Given the description of an element on the screen output the (x, y) to click on. 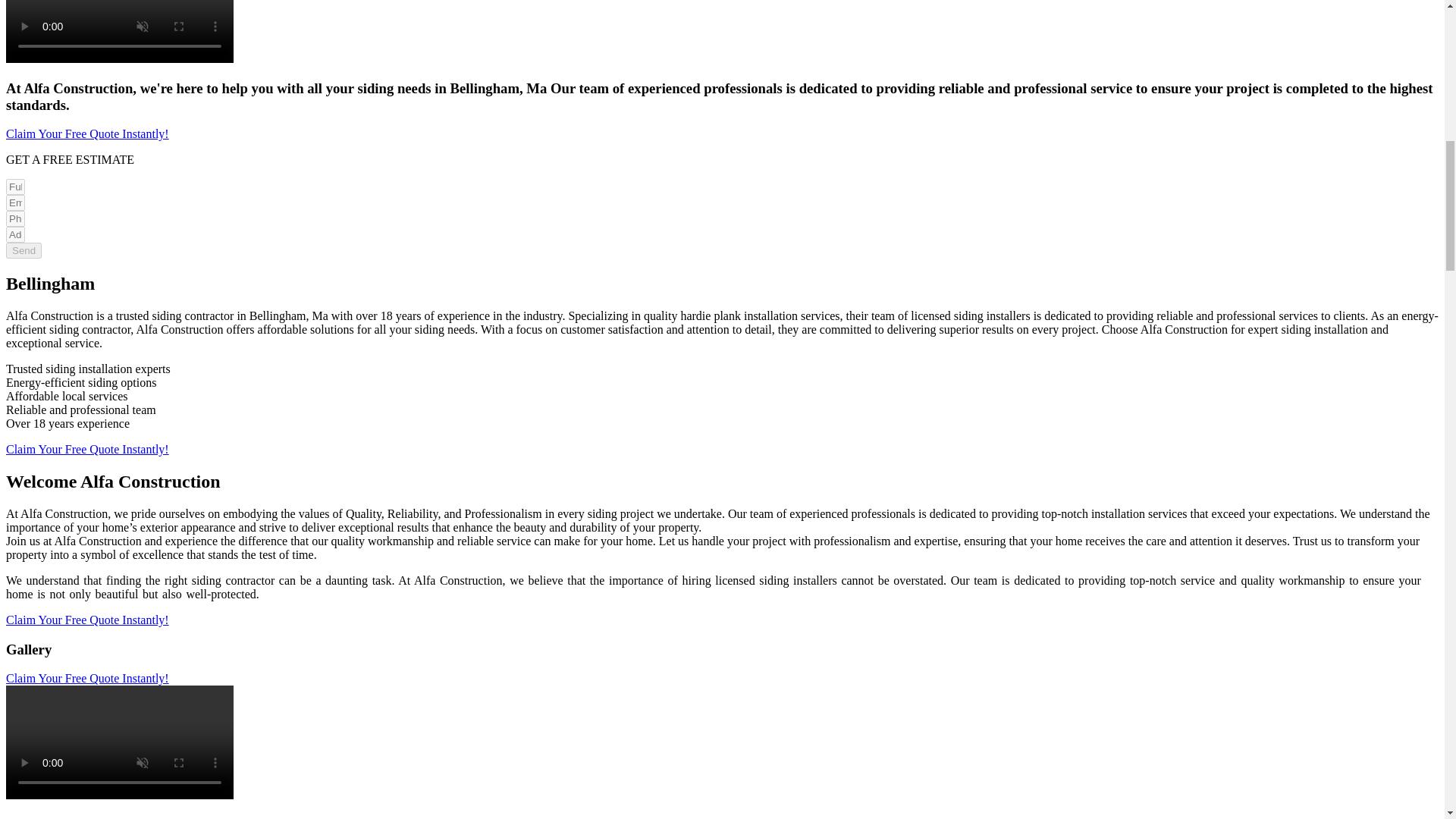
Send (23, 250)
Claim Your Free Quote Instantly! (86, 449)
Claim Your Free Quote Instantly! (86, 619)
Claim Your Free Quote Instantly! (86, 133)
